Given the description of an element on the screen output the (x, y) to click on. 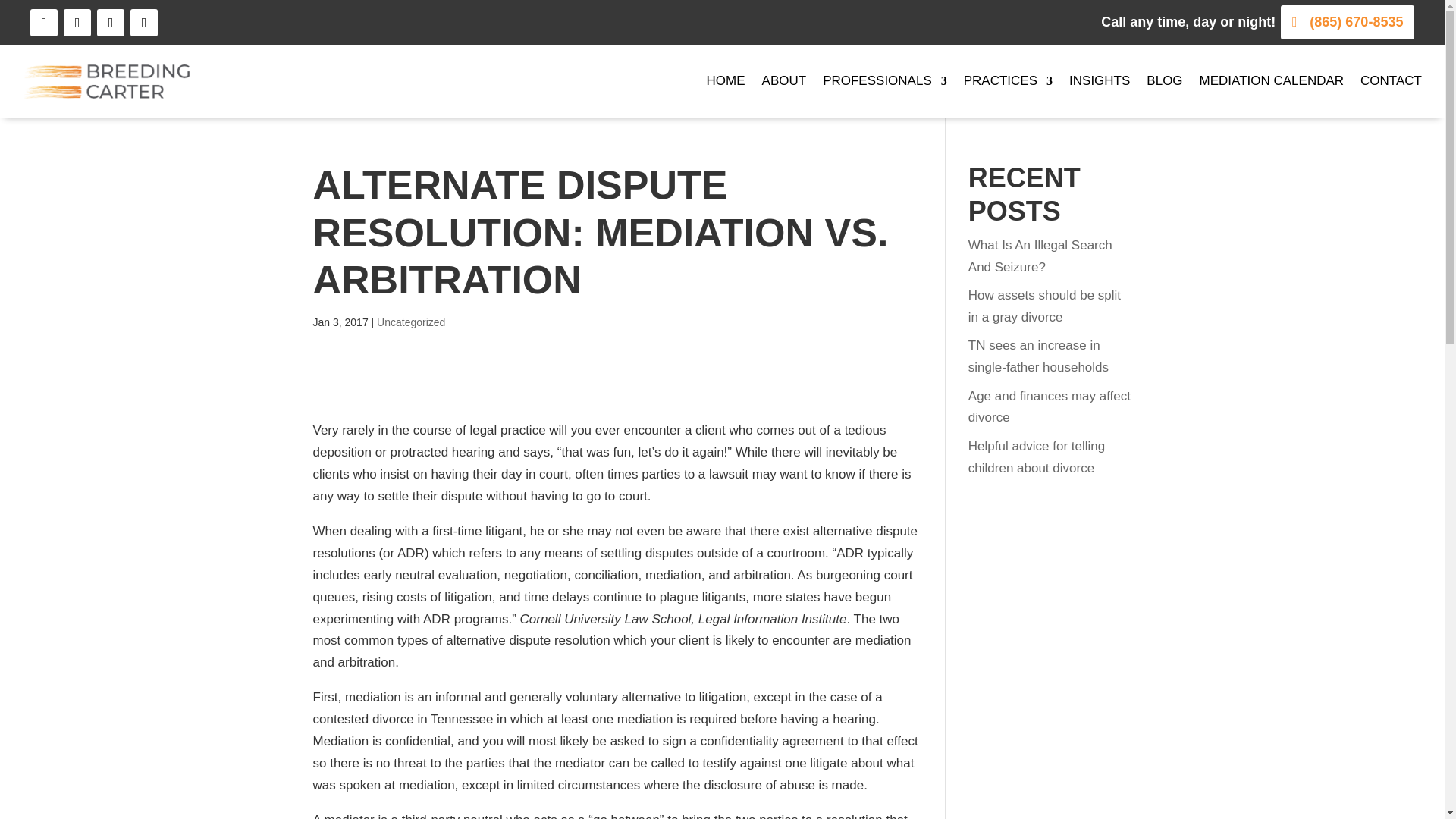
PRACTICES (1007, 80)
PROFESSIONALS (884, 80)
Follow on Instagram (77, 22)
Follow on LinkedIn (110, 22)
Follow on X (144, 22)
Follow on Facebook (44, 22)
